Given the description of an element on the screen output the (x, y) to click on. 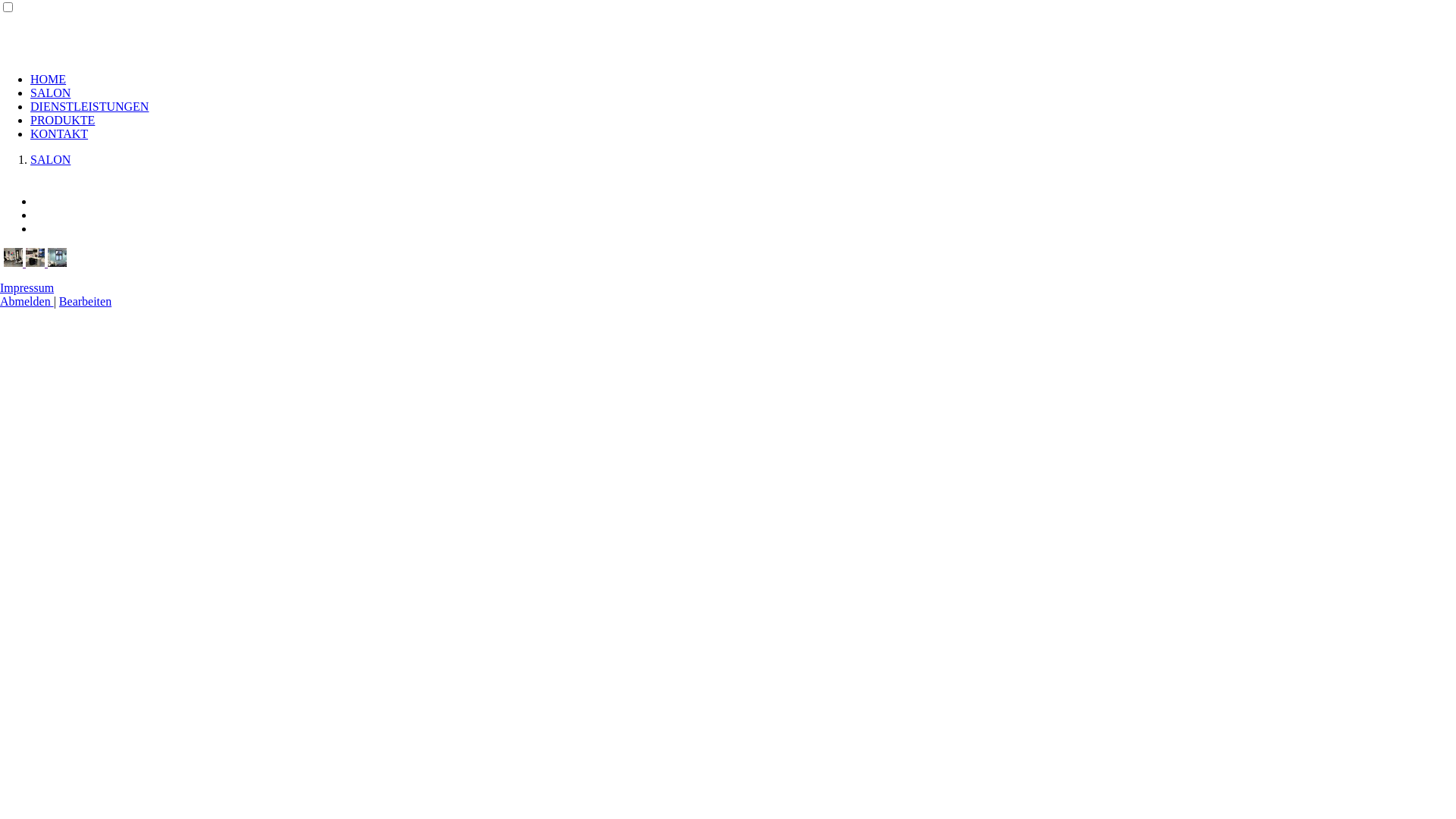
SALON Element type: text (50, 92)
SALON Element type: text (50, 159)
Abmelden Element type: text (26, 300)
KONTAKT Element type: text (58, 133)
PRODUKTE Element type: text (62, 119)
HOME Element type: text (47, 78)
DIENSTLEISTUNGEN Element type: text (89, 106)
Impressum Element type: text (26, 287)
Bearbeiten Element type: text (85, 300)
